Given the description of an element on the screen output the (x, y) to click on. 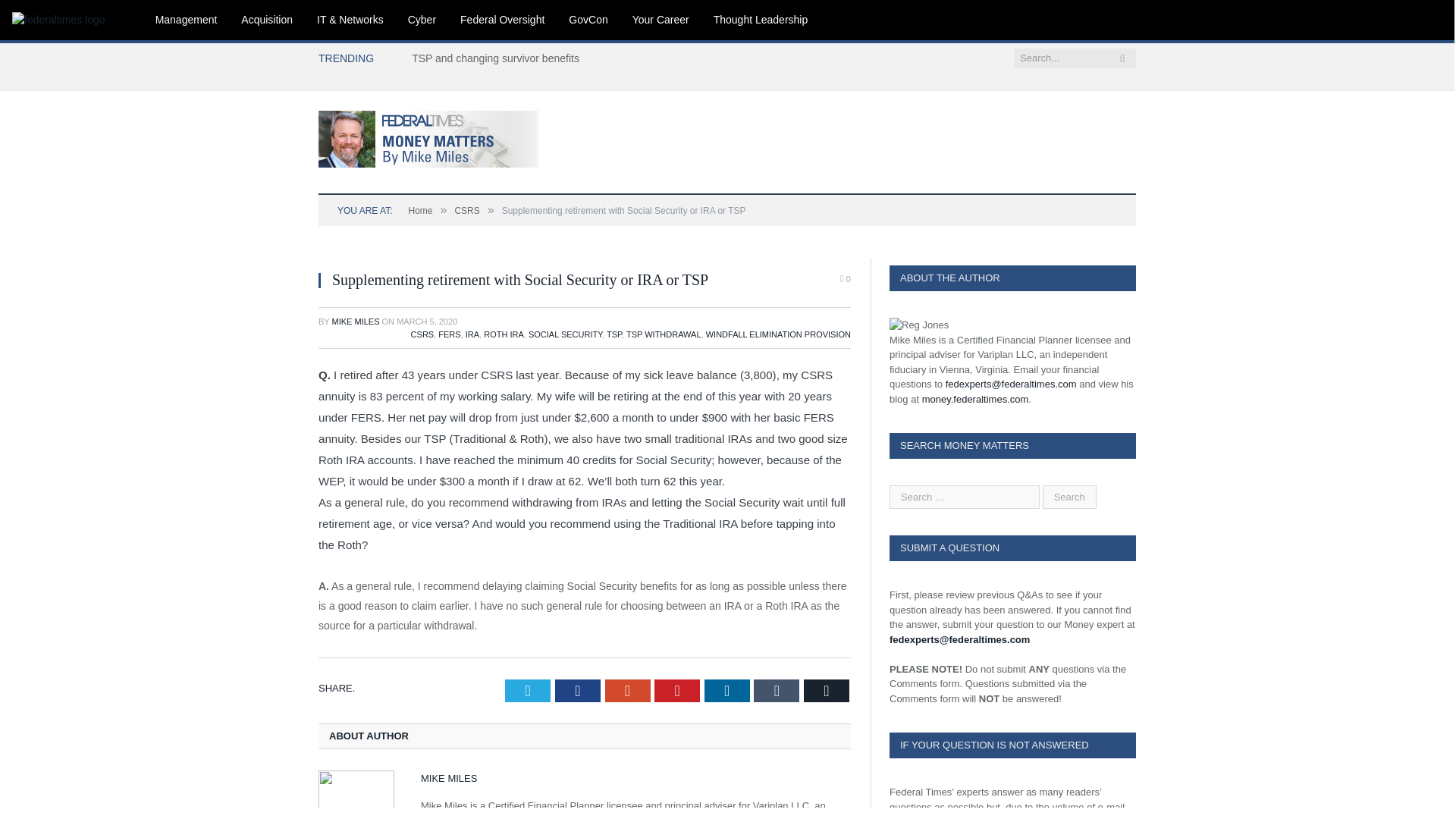
TSP and changing survivor benefits (499, 58)
Acquisition (266, 19)
TSP (614, 333)
Facebook (576, 690)
ROTH IRA (503, 333)
Management (186, 19)
Posts by Mike Miles (355, 320)
LinkedIn (726, 690)
FERS (449, 333)
Pinterest (676, 690)
